Given the description of an element on the screen output the (x, y) to click on. 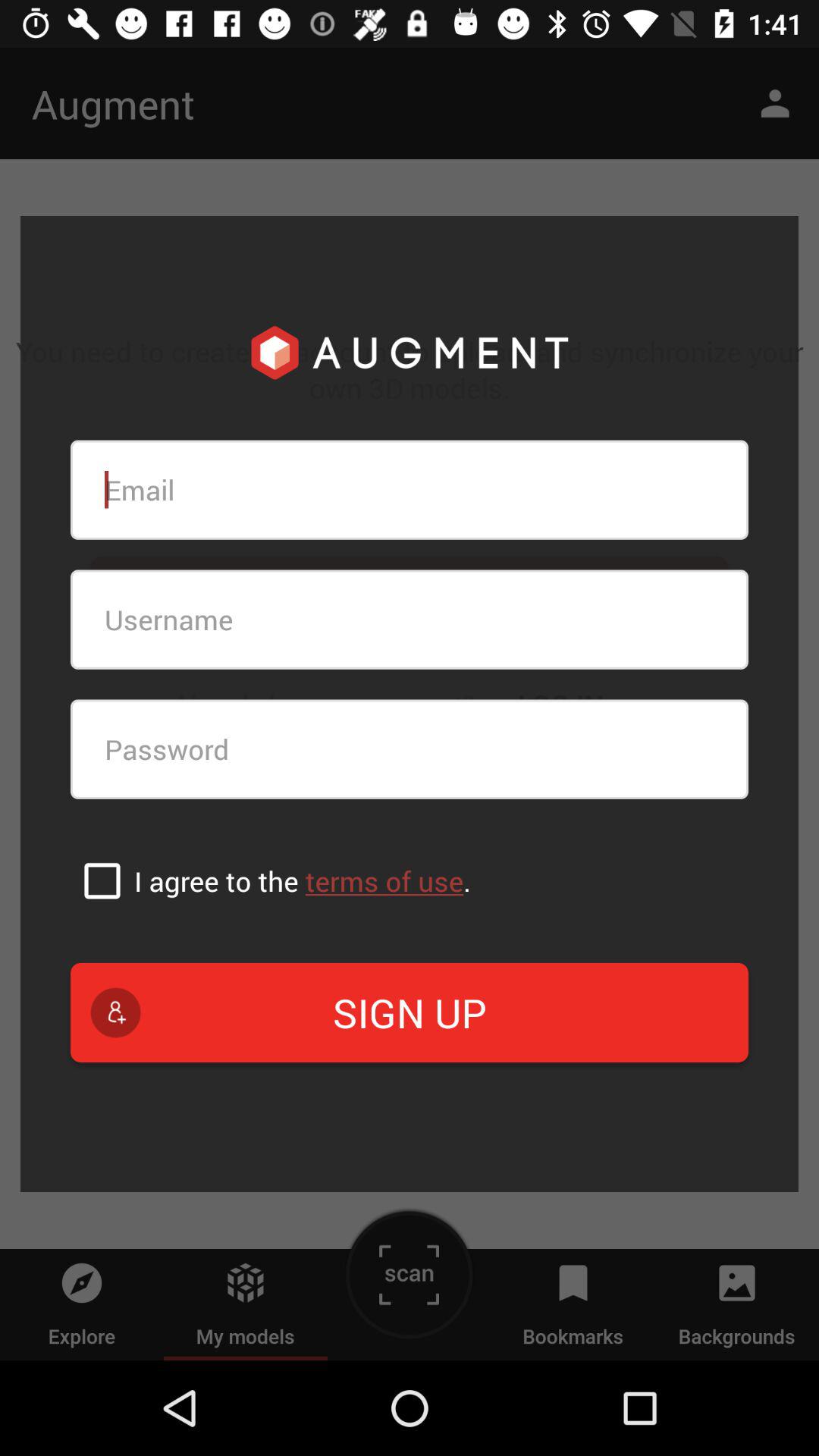
username input field (409, 619)
